Given the description of an element on the screen output the (x, y) to click on. 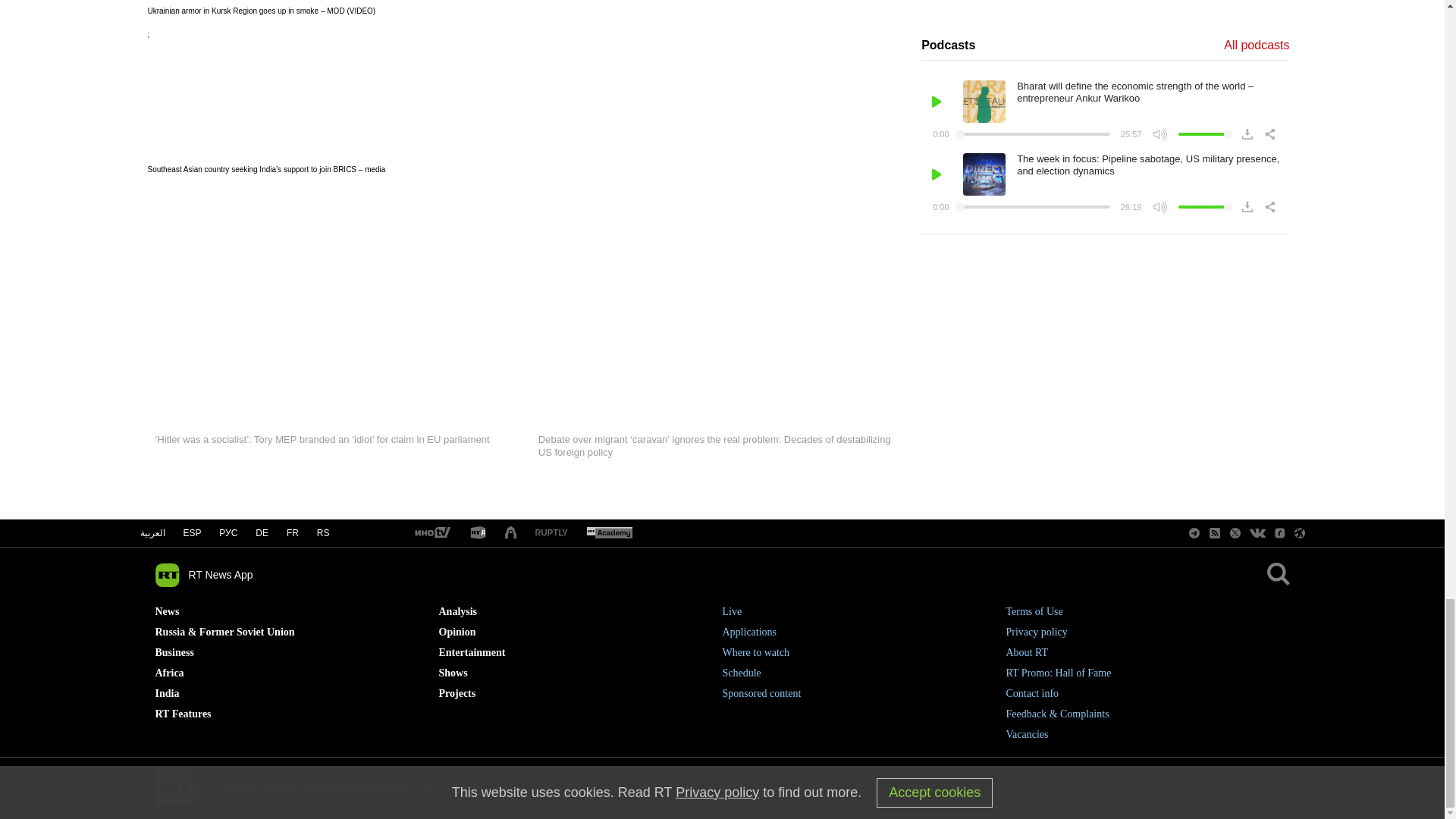
RT  (478, 533)
RT  (431, 533)
RT  (608, 533)
RT  (551, 533)
